Given the description of an element on the screen output the (x, y) to click on. 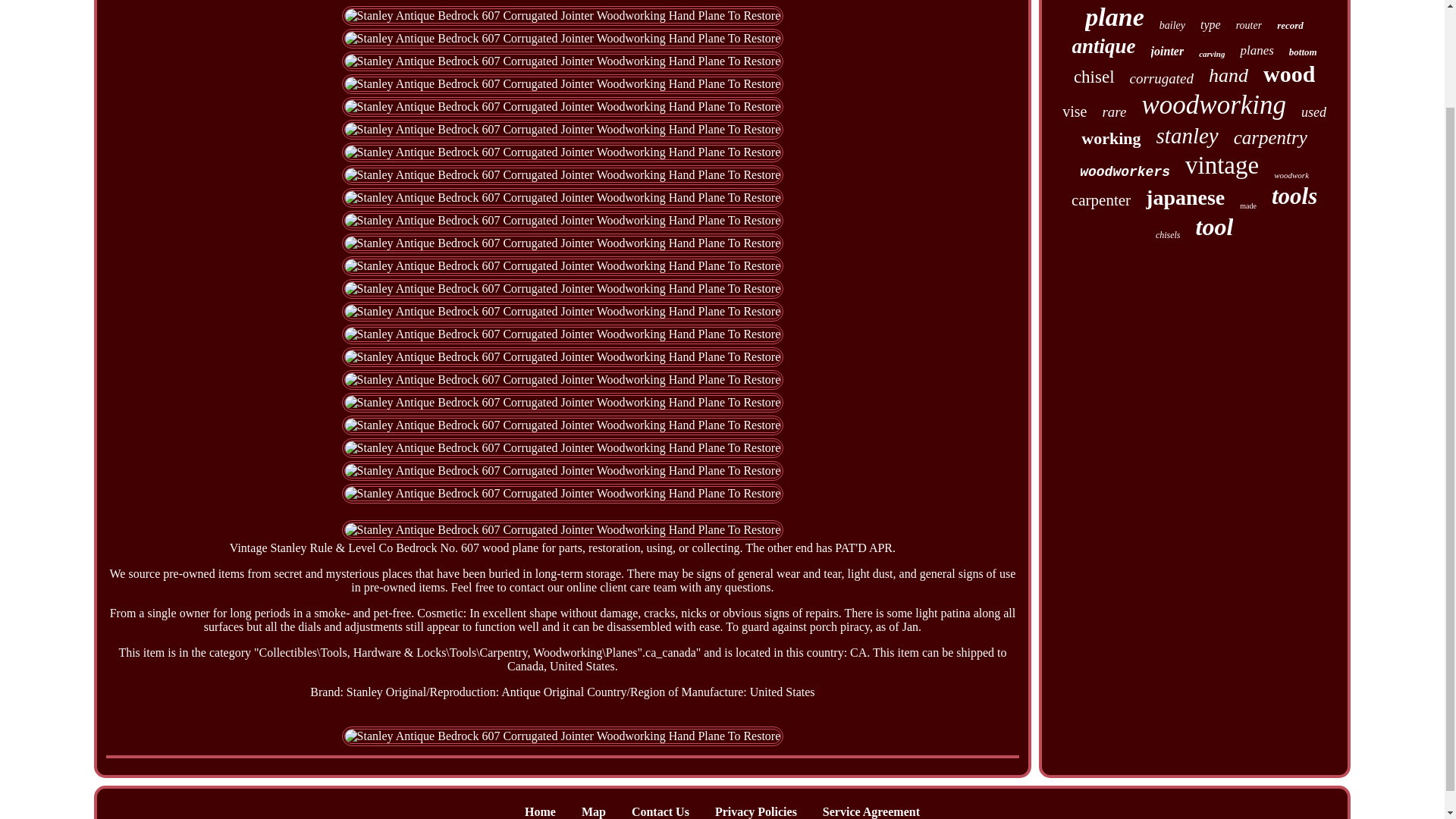
rare (1113, 112)
type (1210, 24)
stanley (1187, 135)
bailey (1171, 25)
antique (1103, 46)
plane (1113, 17)
carving (1211, 53)
vise (1074, 111)
